Given the description of an element on the screen output the (x, y) to click on. 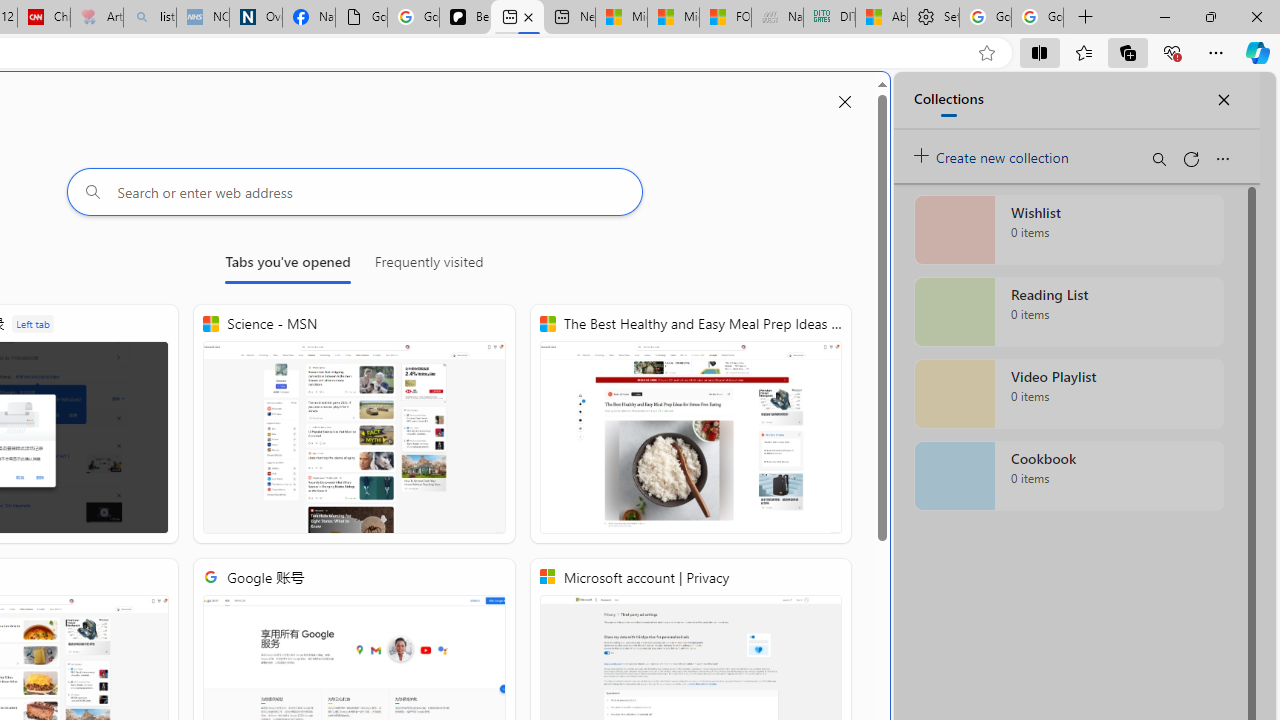
Arthritis: Ask Health Professionals - Sleeping (96, 17)
Google Analytics Opt-out Browser Add-on Download Page (360, 17)
Search or enter web address (354, 191)
